Given the description of an element on the screen output the (x, y) to click on. 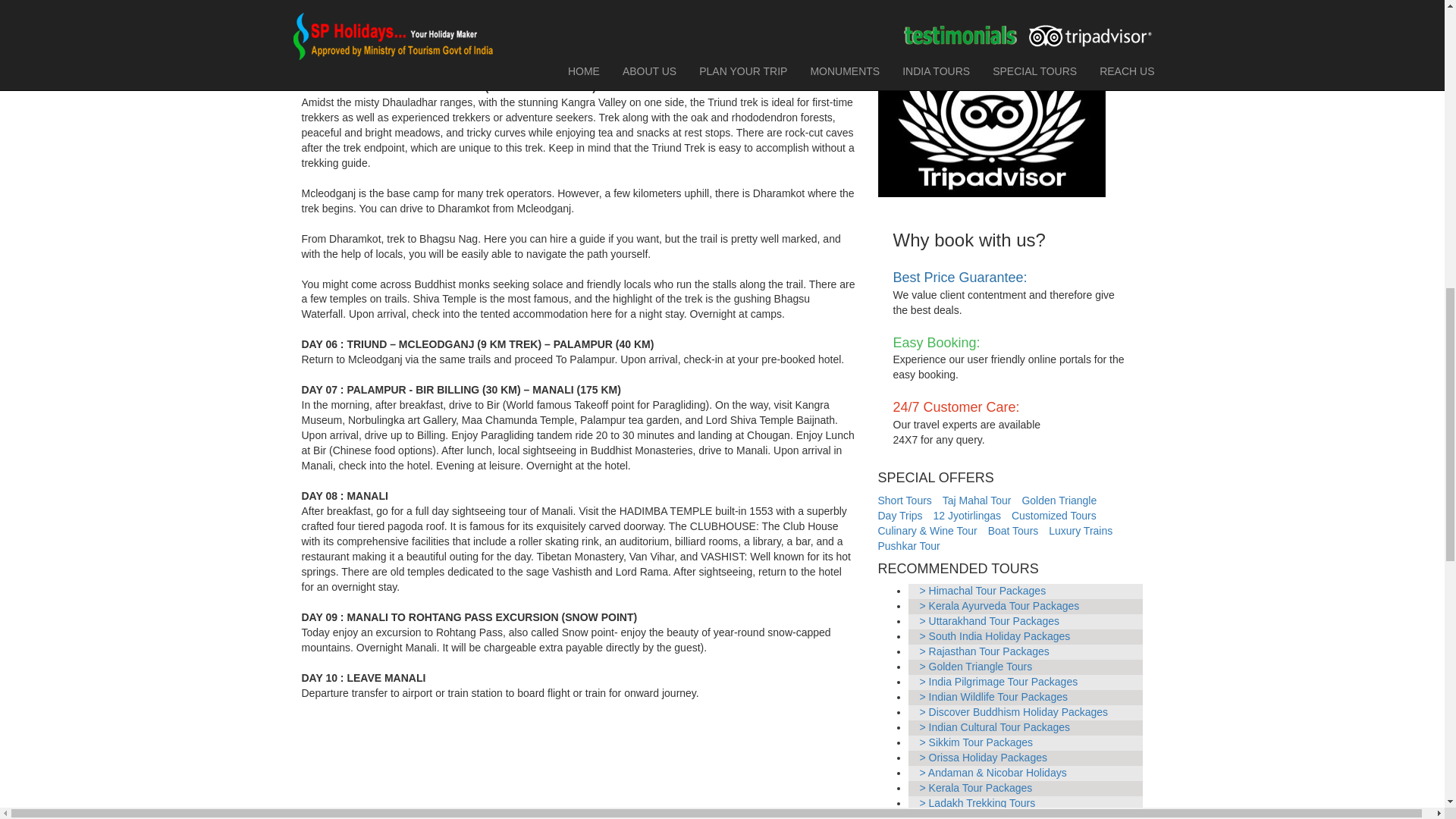
Luxury Trains (1080, 530)
Golden Triangle (1059, 500)
Customized Tours (1053, 515)
Pushkar Tour (908, 545)
Short Tours (904, 500)
12 Jyotirlingas (967, 515)
Boat Tours (1013, 530)
Day Trips (900, 515)
Taj Mahal Tour (976, 500)
